Given the description of an element on the screen output the (x, y) to click on. 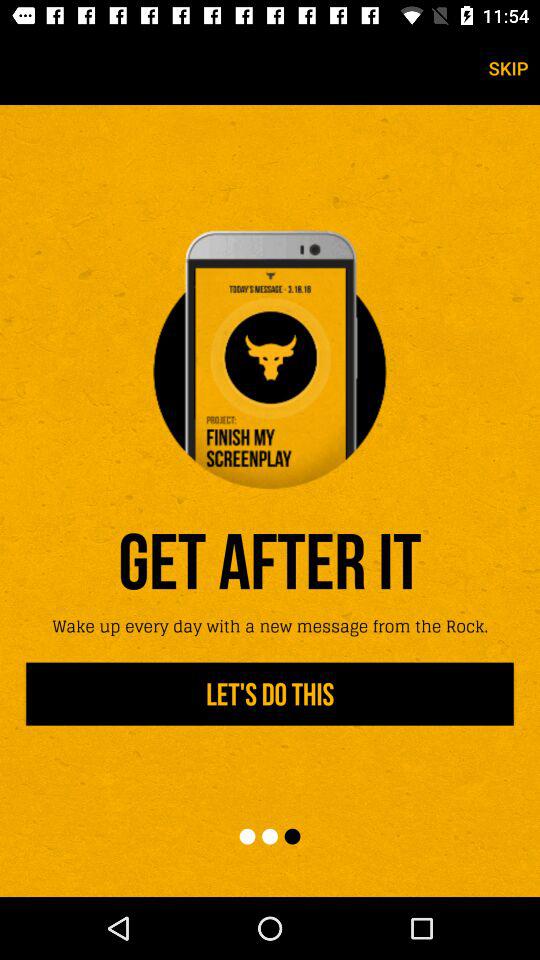
tap icon above get after it icon (269, 357)
